Given the description of an element on the screen output the (x, y) to click on. 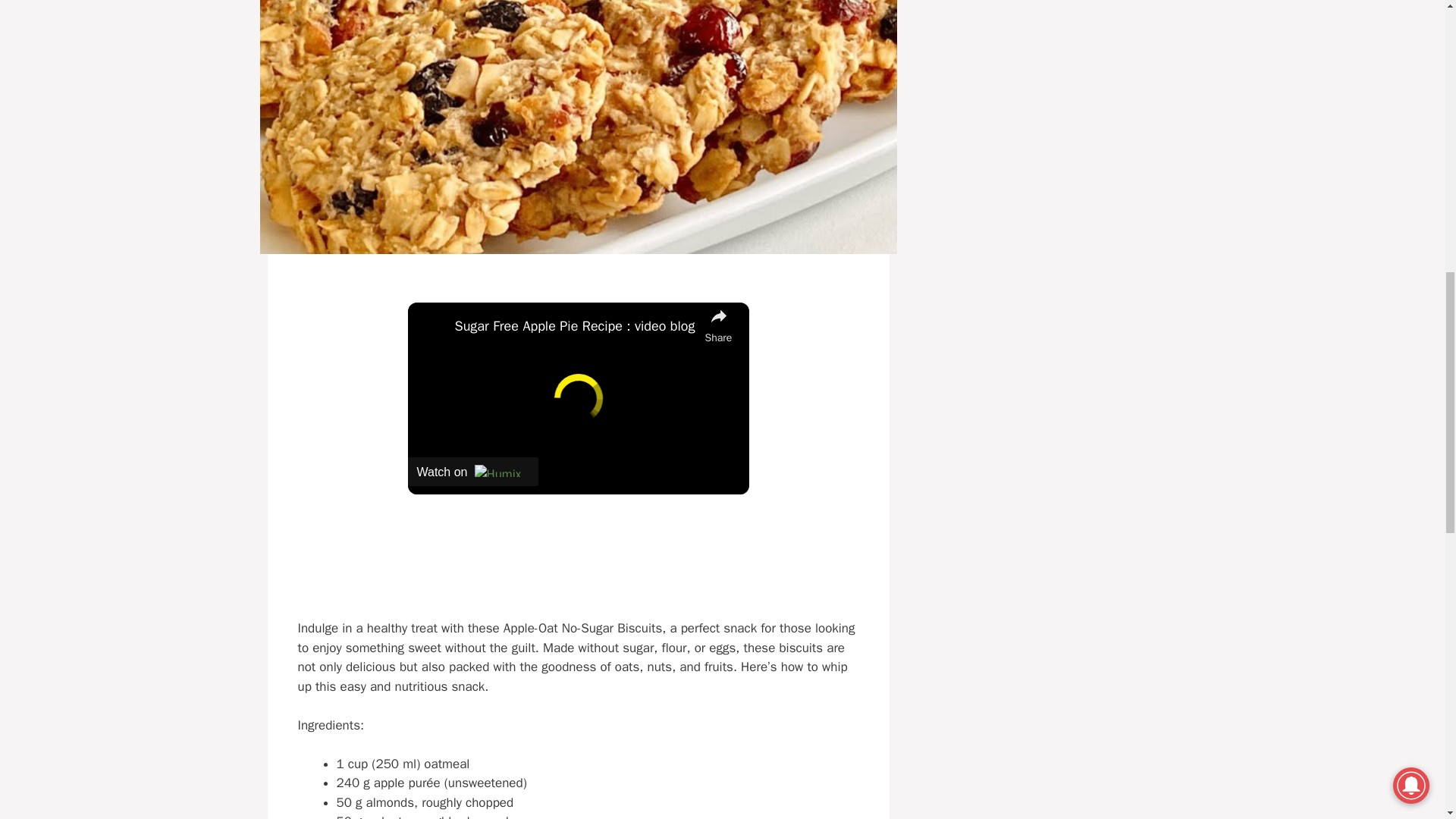
Scroll back to top (1406, 720)
Sugar Free Apple Pie Recipe : video blog (575, 326)
Watch on (472, 471)
